Given the description of an element on the screen output the (x, y) to click on. 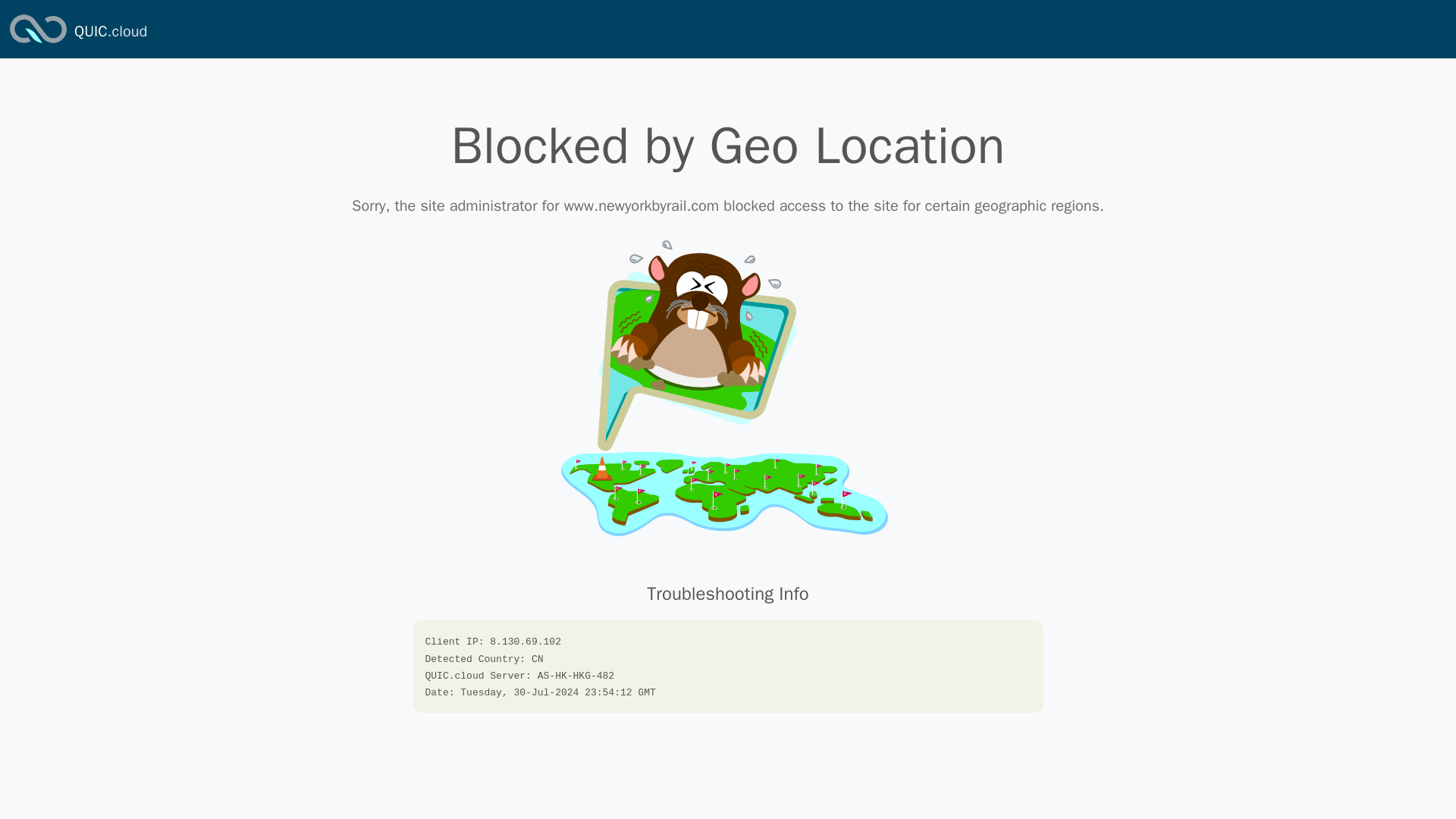
QUIC.cloud (110, 31)
QUIC.cloud (110, 31)
QUIC.cloud (37, 43)
